Given the description of an element on the screen output the (x, y) to click on. 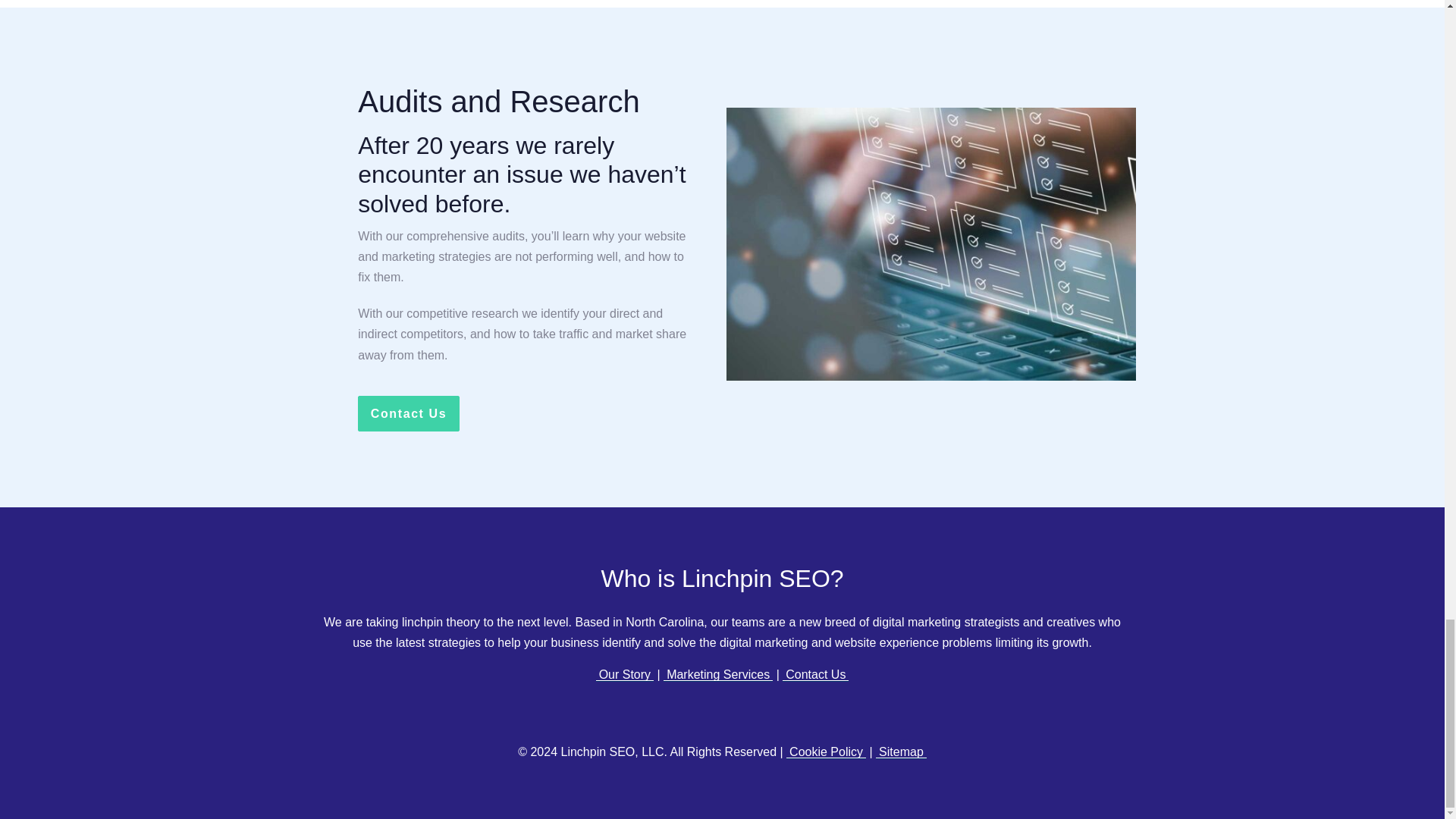
Marketing Services (718, 674)
Our Story (624, 674)
Sitemap (901, 752)
Contact Us (815, 674)
Contact Us (408, 413)
Cookie Policy (826, 752)
